Given the description of an element on the screen output the (x, y) to click on. 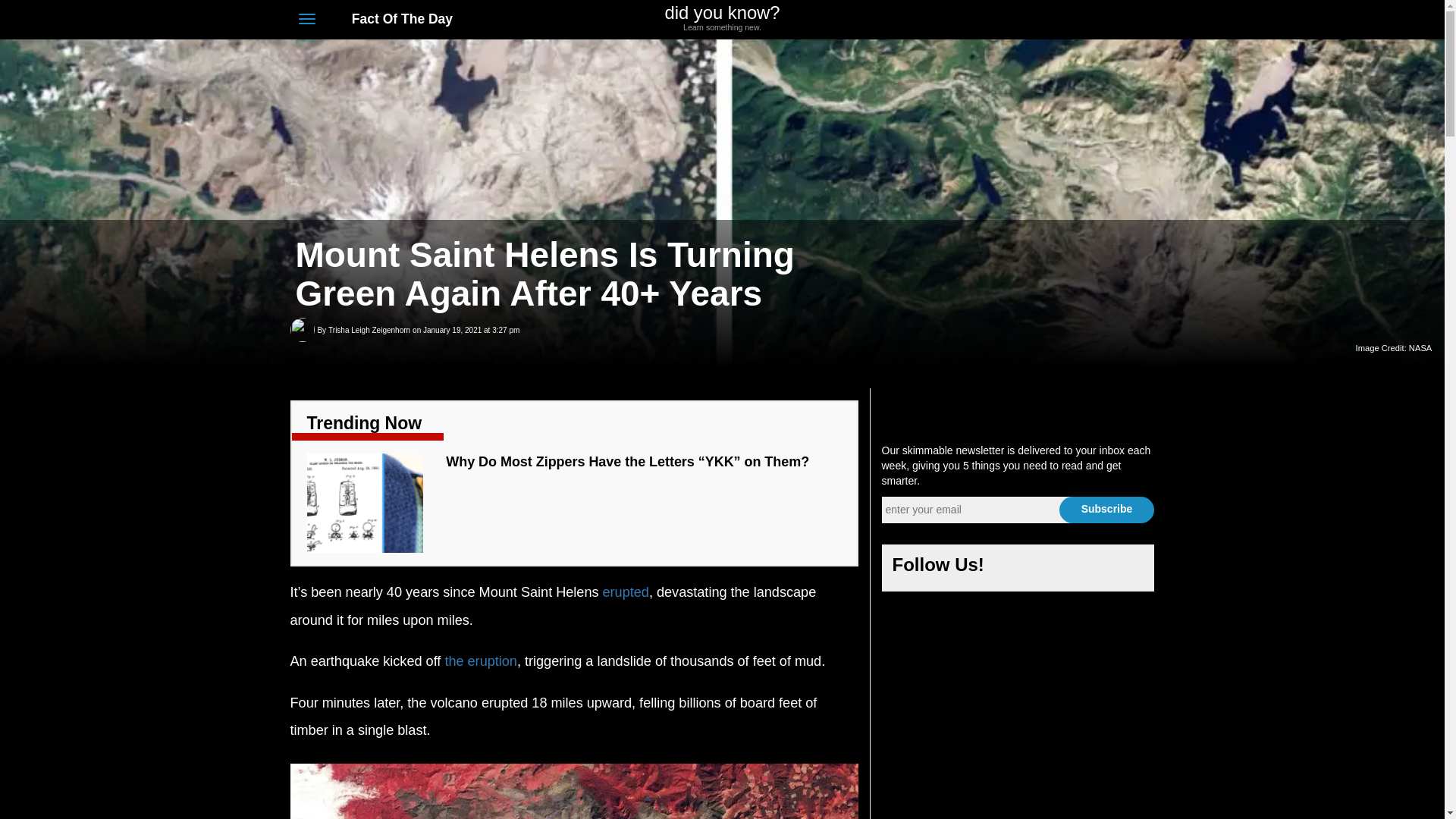
Toggle navigation (306, 18)
Tumblr (1127, 569)
erupted (625, 591)
Instagram (1091, 20)
Facebook (1018, 569)
Posts by Trisha Leigh Zeigenhorn (369, 330)
the eruption (480, 661)
Tumblr (1119, 20)
Instagram (1091, 569)
Trisha Leigh Zeigenhorn (722, 18)
Facebook (369, 330)
Fact Of The Day (1034, 20)
Twitter (393, 18)
Subscribe (1054, 569)
